Given the description of an element on the screen output the (x, y) to click on. 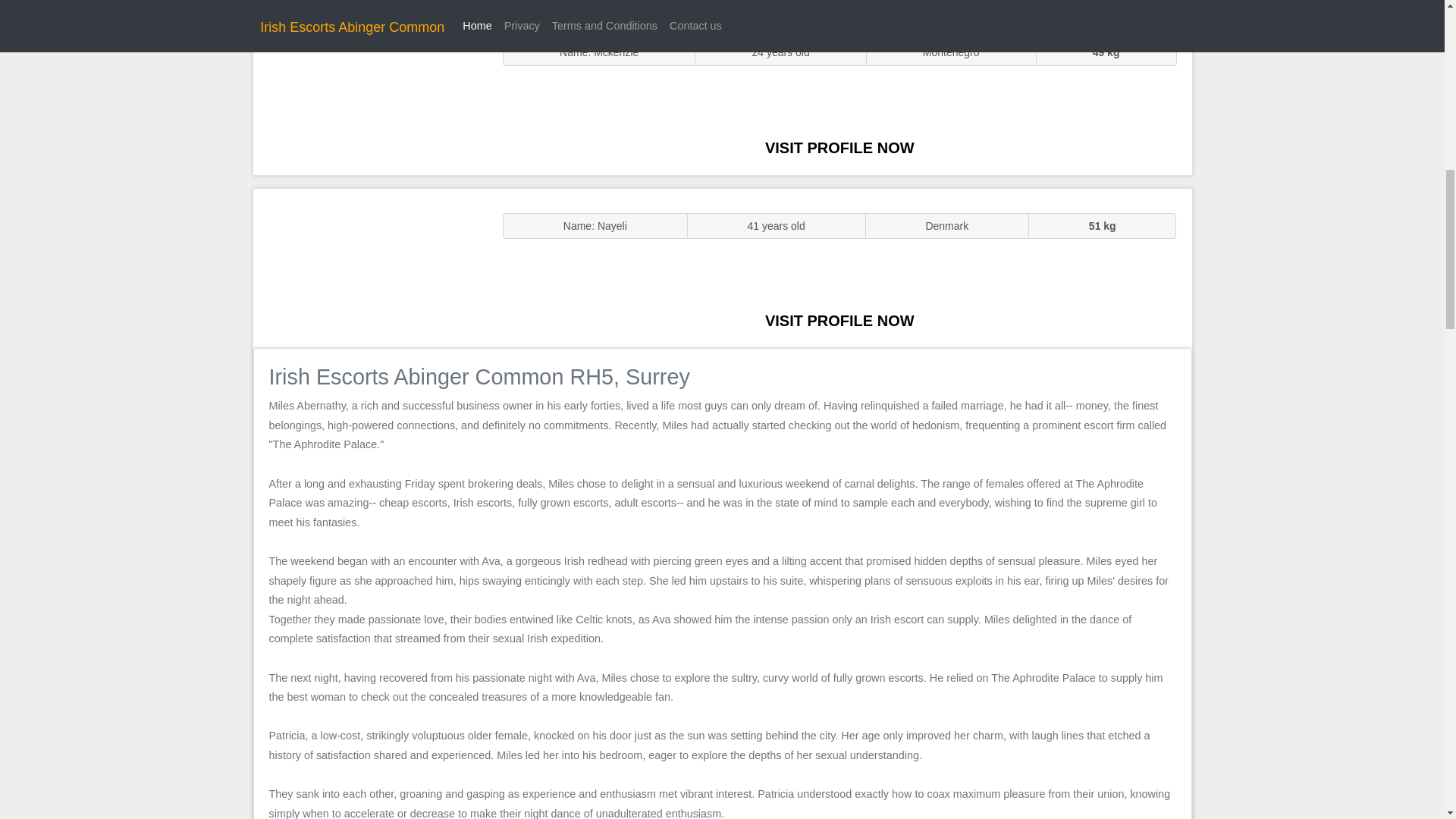
Sluts (370, 94)
VISIT PROFILE NOW (839, 147)
VISIT PROFILE NOW (839, 320)
Massage (370, 267)
